Given the description of an element on the screen output the (x, y) to click on. 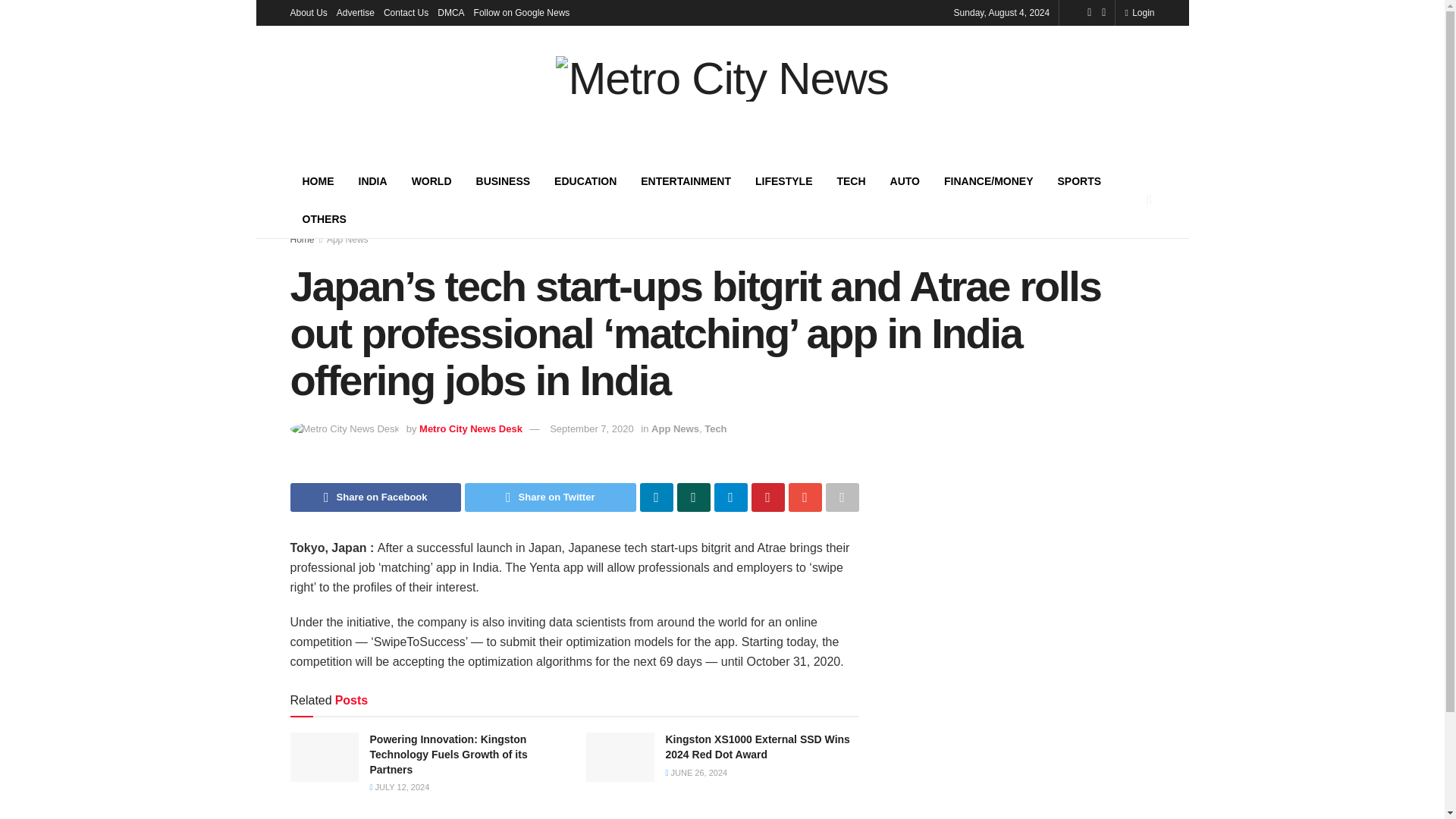
OTHERS (323, 218)
LIFESTYLE (783, 180)
TECH (850, 180)
About Us (307, 12)
DMCA (451, 12)
Login (1139, 12)
SPORTS (1079, 180)
EDUCATION (584, 180)
WORLD (431, 180)
Contact Us (406, 12)
Follow on Google News (522, 12)
Advertise (355, 12)
ENTERTAINMENT (685, 180)
BUSINESS (503, 180)
AUTO (904, 180)
